Given the description of an element on the screen output the (x, y) to click on. 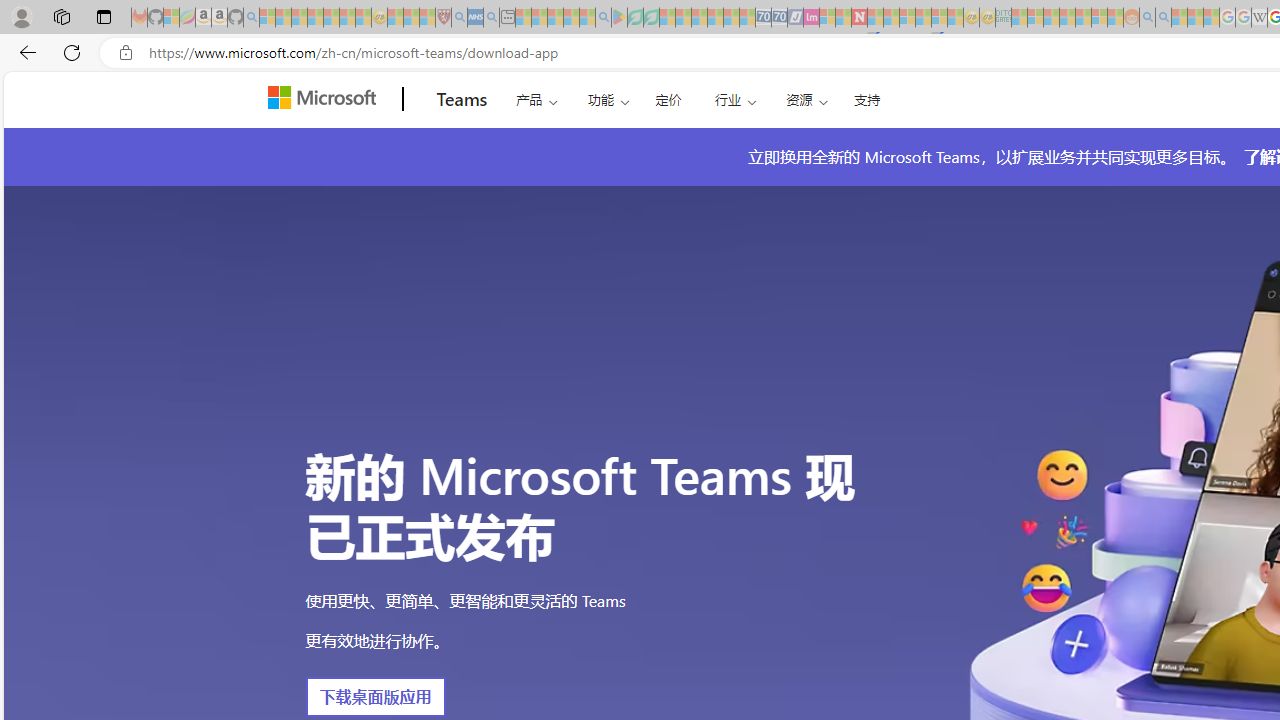
14 Common Myths Debunked By Scientific Facts - Sleeping (891, 17)
Microsoft-Report a Concern to Bing - Sleeping (171, 17)
